Given the description of an element on the screen output the (x, y) to click on. 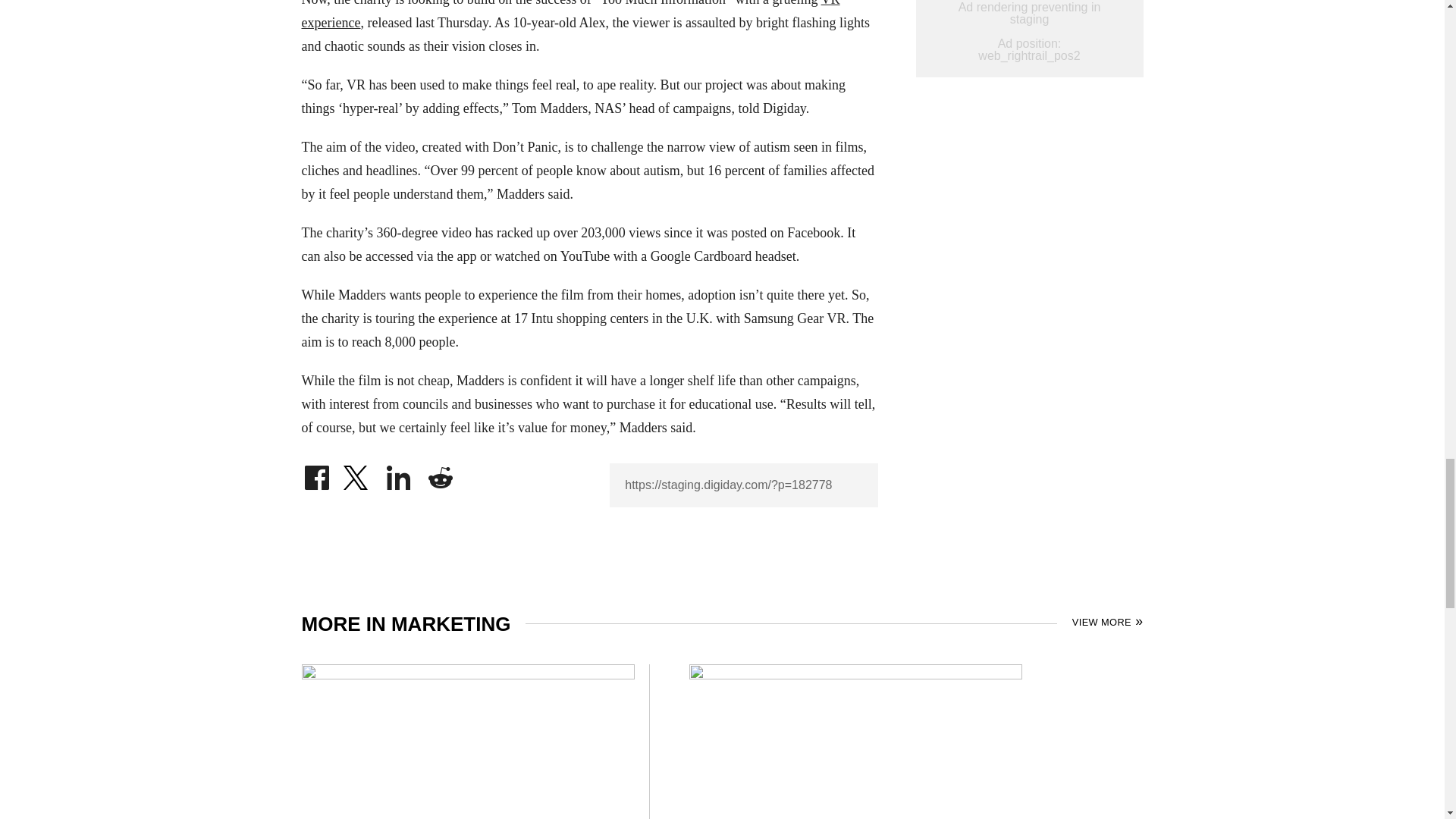
Share on LinkedIn (398, 473)
Share on Twitter (357, 473)
Share on Facebook (316, 473)
Share on Reddit (440, 473)
